Given the description of an element on the screen output the (x, y) to click on. 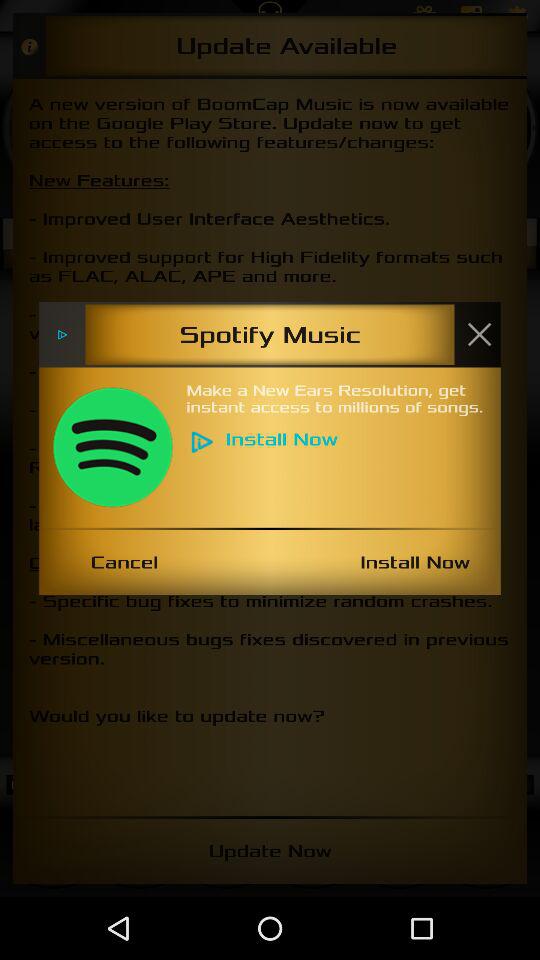
tap the icon next to the make a new icon (112, 447)
